Given the description of an element on the screen output the (x, y) to click on. 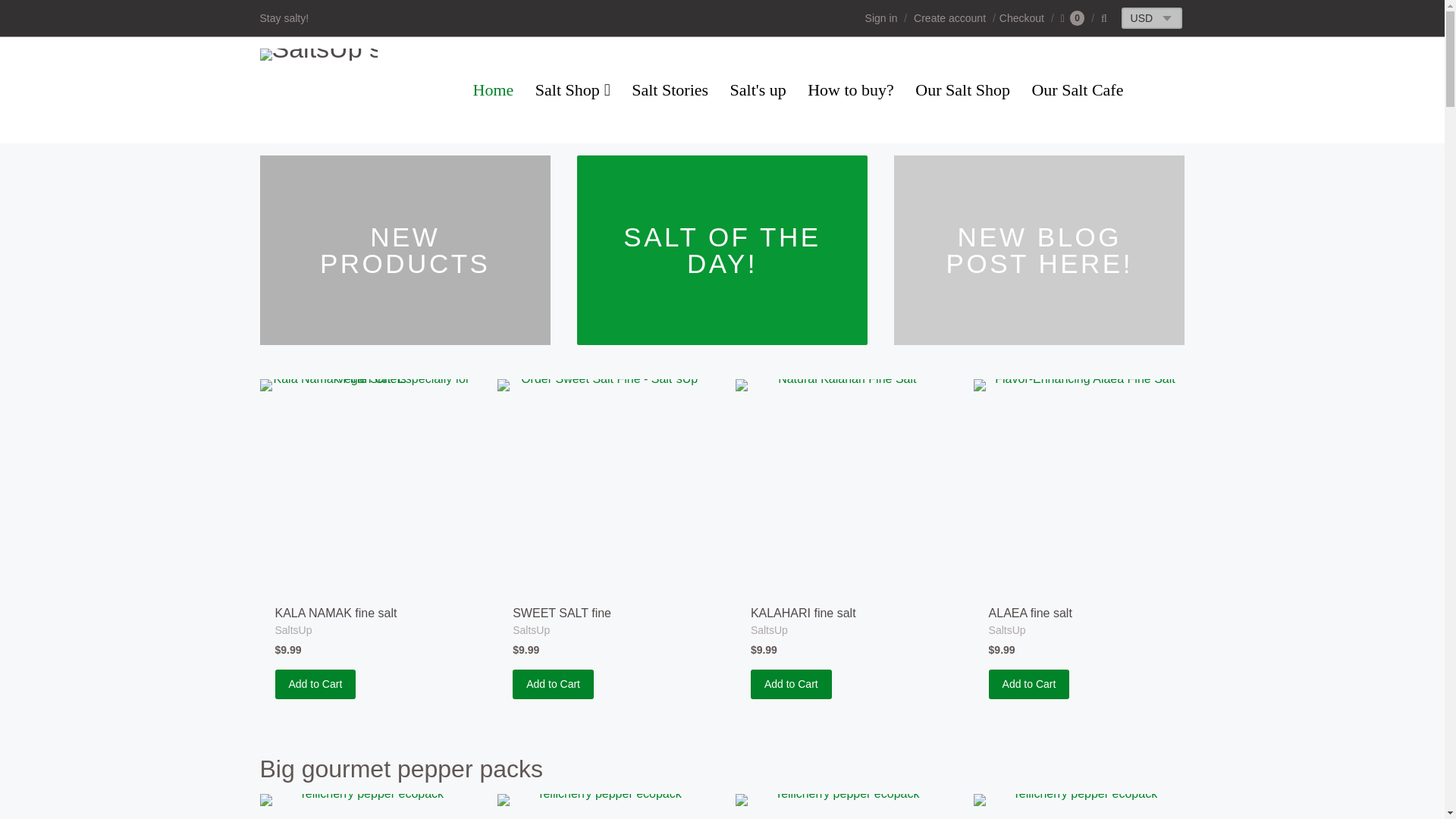
SaltsUp shop (318, 89)
Kala Namak Fine Salt: Especially for Vegan Chefs (364, 484)
SaltsUp (1007, 630)
Natural Kalahari Fine Salt (841, 484)
SaltsUp (293, 630)
How to buy? (849, 90)
Our Salt Shop (962, 90)
SaltsUp (293, 630)
Tellicherry pepper ecopack (841, 806)
ALAEA fine salt (1029, 612)
